Given the description of an element on the screen output the (x, y) to click on. 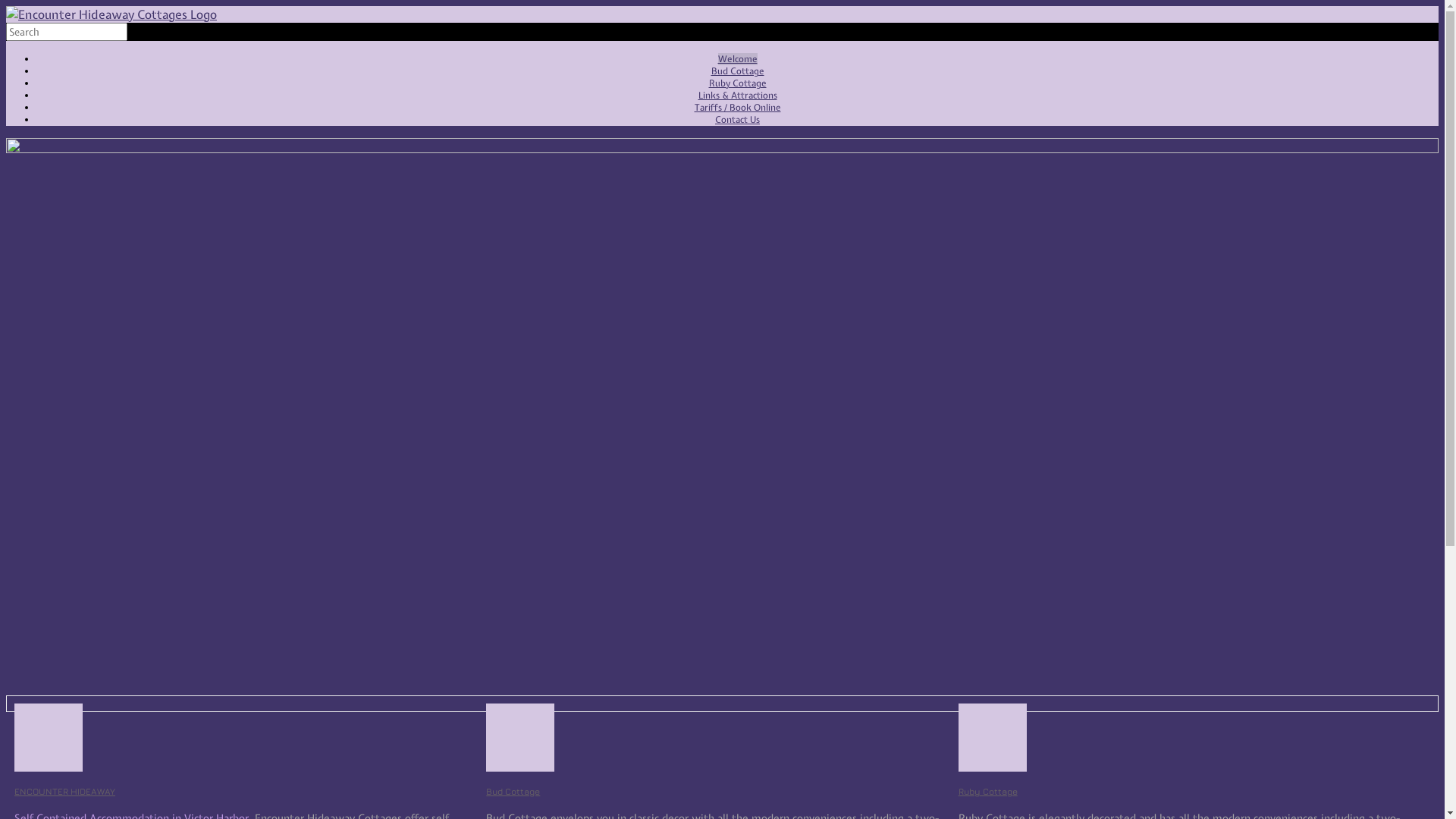
Welcome Element type: text (736, 59)
Bud Cottage Element type: text (512, 791)
Encounter Hideaway Cottages Element type: hover (111, 14)
Contact Us Element type: text (737, 119)
Ruby Cottage Element type: text (987, 791)
Ruby Cottage Element type: text (736, 83)
Links & Attractions Element type: text (736, 95)
Bud Cottage Element type: text (737, 71)
Tariffs / Book Online Element type: text (737, 107)
ENCOUNTER HIDEAWAY Element type: text (64, 791)
